Given the description of an element on the screen output the (x, y) to click on. 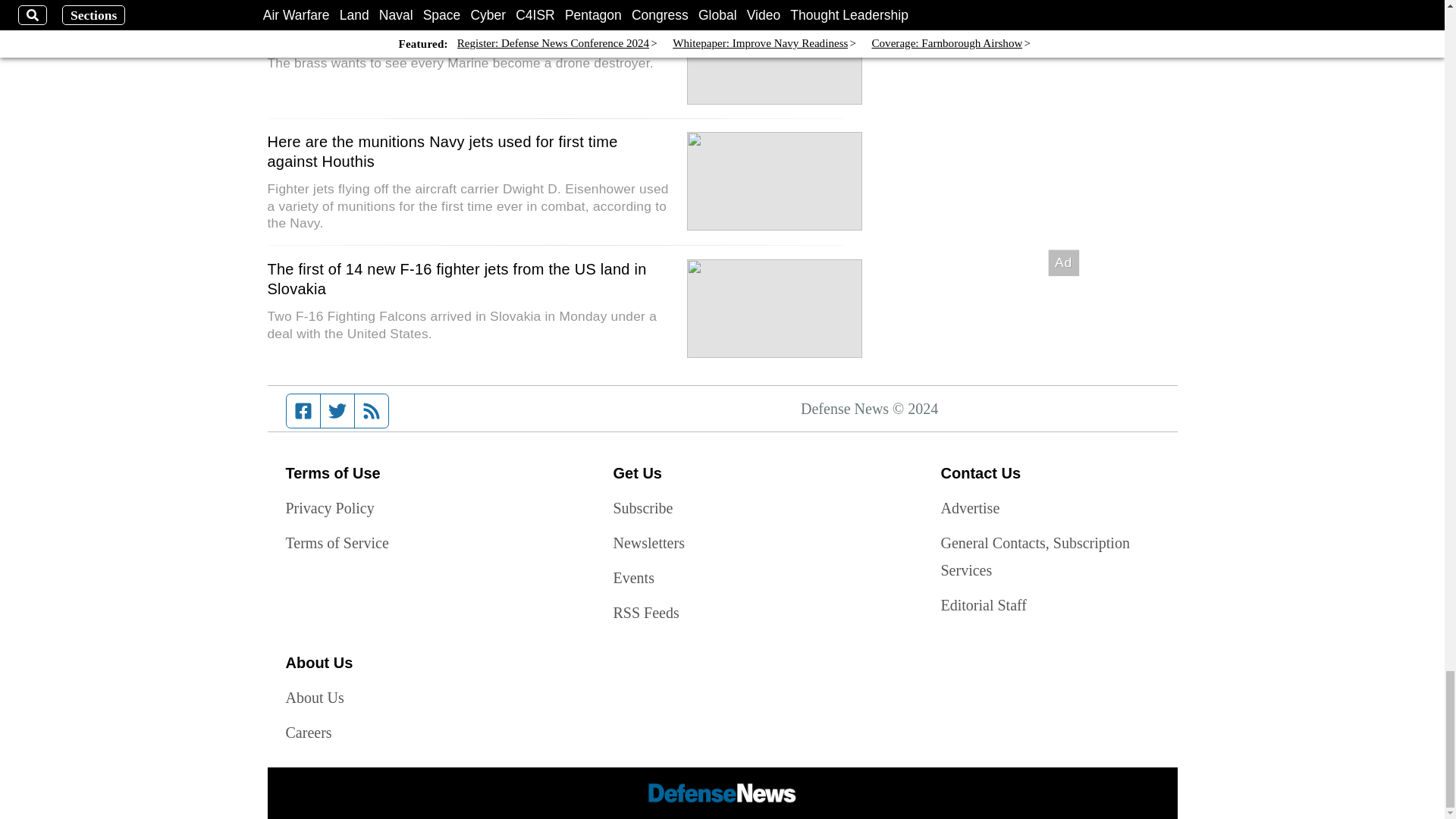
Facebook page (303, 410)
Twitter feed (336, 410)
RSS feed (371, 410)
